Given the description of an element on the screen output the (x, y) to click on. 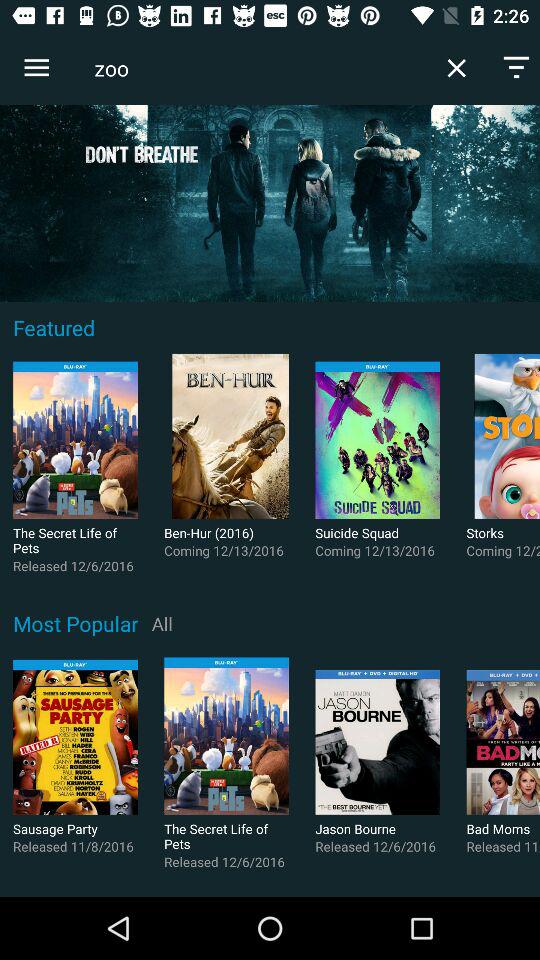
turn off icon to the right of the most popular (162, 623)
